Given the description of an element on the screen output the (x, y) to click on. 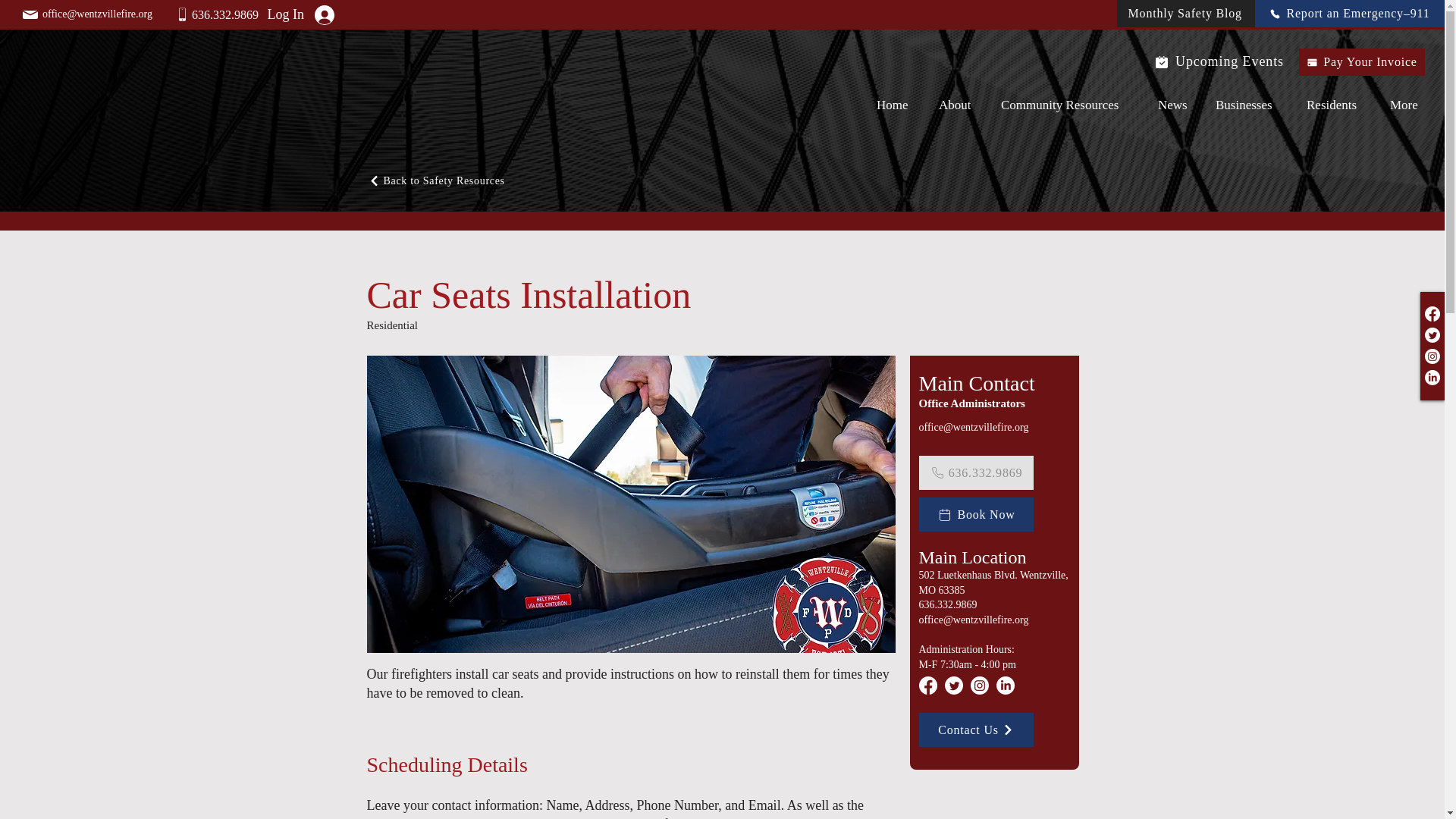
News (1175, 104)
Community Resources (1068, 104)
636.332.9869 (225, 14)
Upcoming Events (1212, 61)
About (958, 104)
Back to Safety Resources (459, 180)
Home (895, 104)
Pay Your Invoice (1361, 62)
Monthly Safety Blog (1185, 13)
Log In (307, 14)
